Given the description of an element on the screen output the (x, y) to click on. 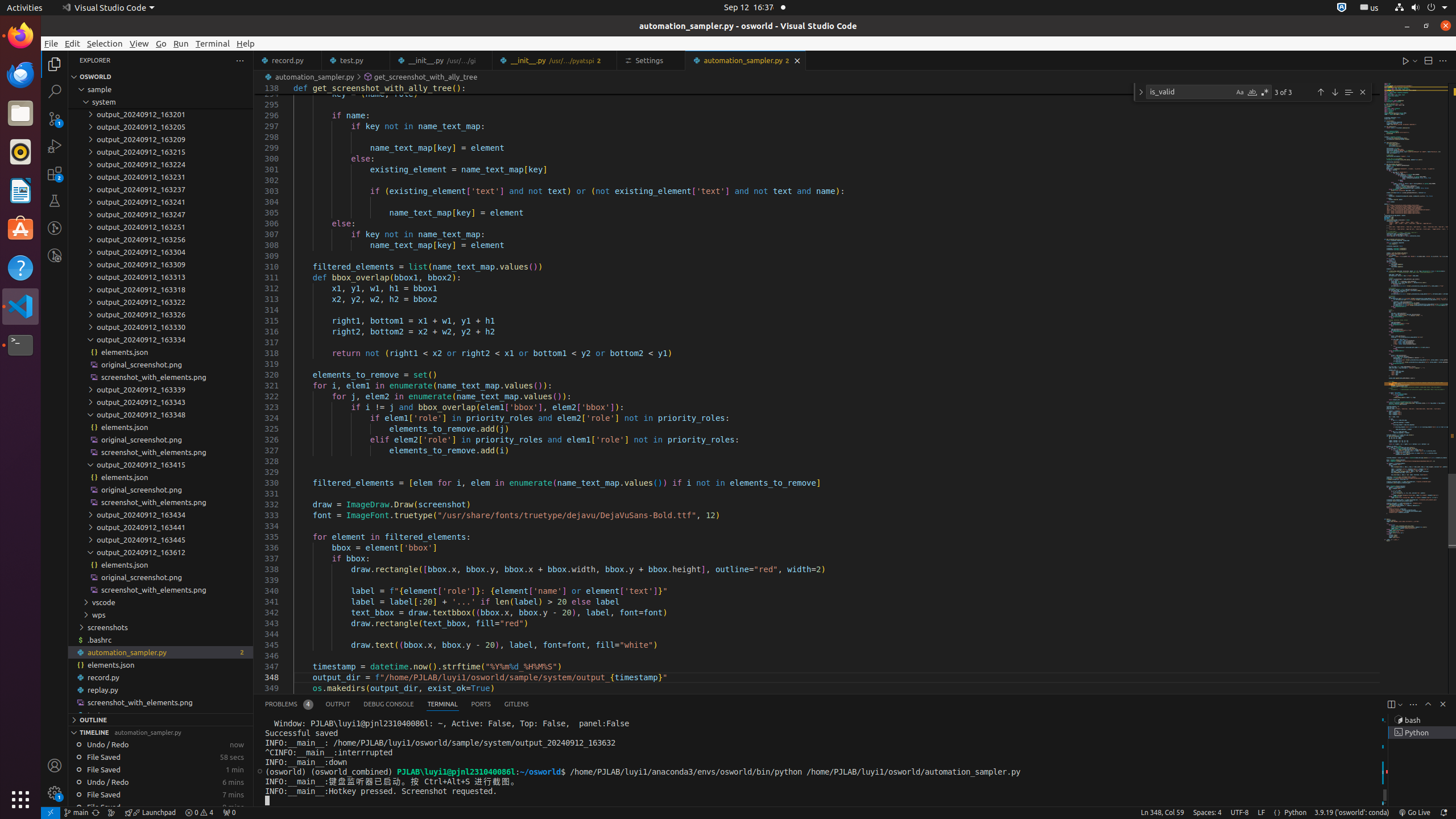
Run and Debug (Ctrl+Shift+D) Element type: page-tab (54, 145)
replay.py Element type: tree-item (160, 689)
